Given the description of an element on the screen output the (x, y) to click on. 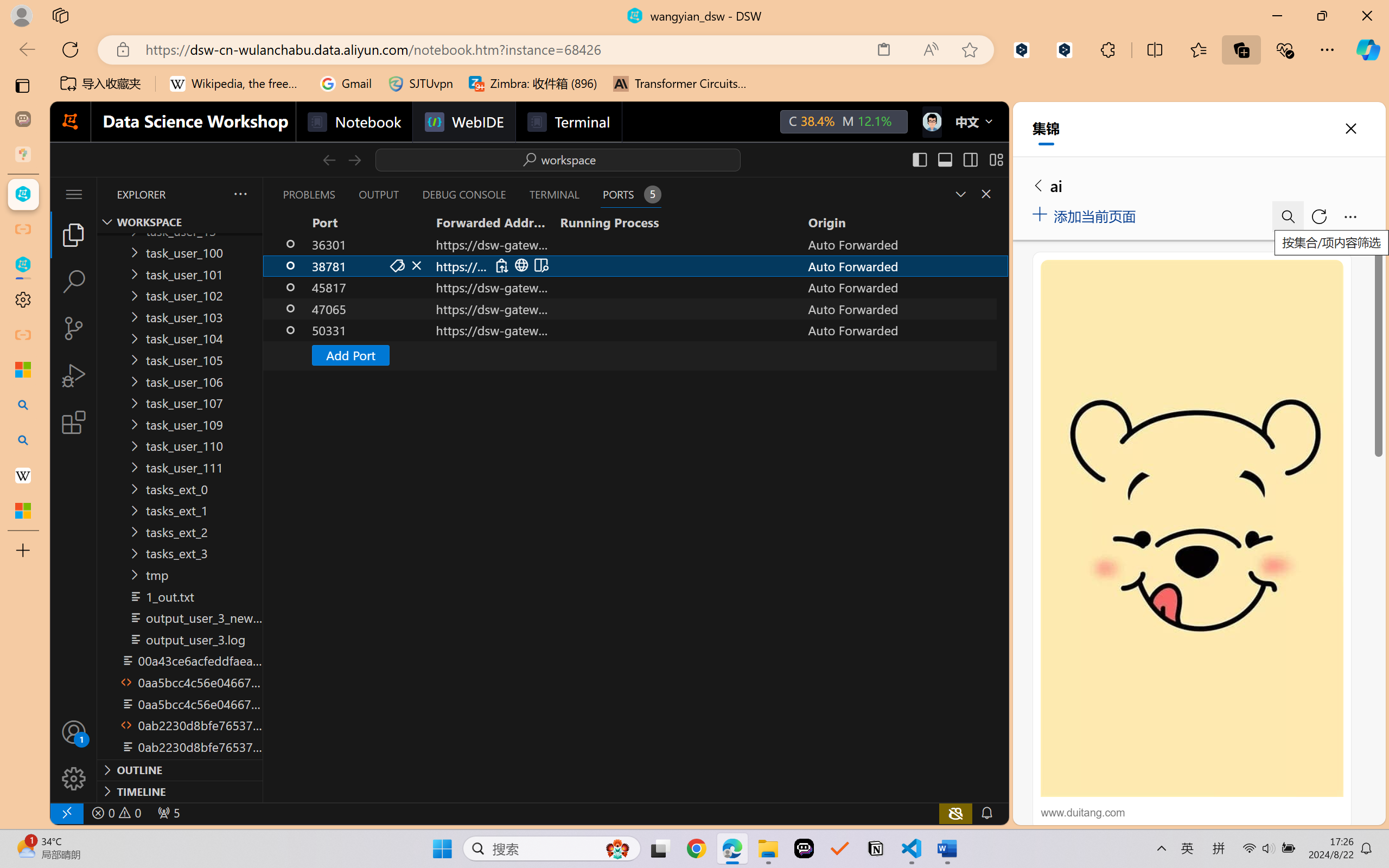
WebIDE (463, 121)
Ports - 5 forwarded ports Ports - 5 forwarded ports (630, 194)
Explorer (Ctrl+Shift+E) (73, 234)
Explorer Section: workspace (179, 221)
Forwarded Ports: 36301, 47065, 38781, 45817, 50331 (167, 812)
Go Back (Alt+LeftArrow) (329, 159)
Go Forward (Alt+RightArrow) (354, 159)
